Given the description of an element on the screen output the (x, y) to click on. 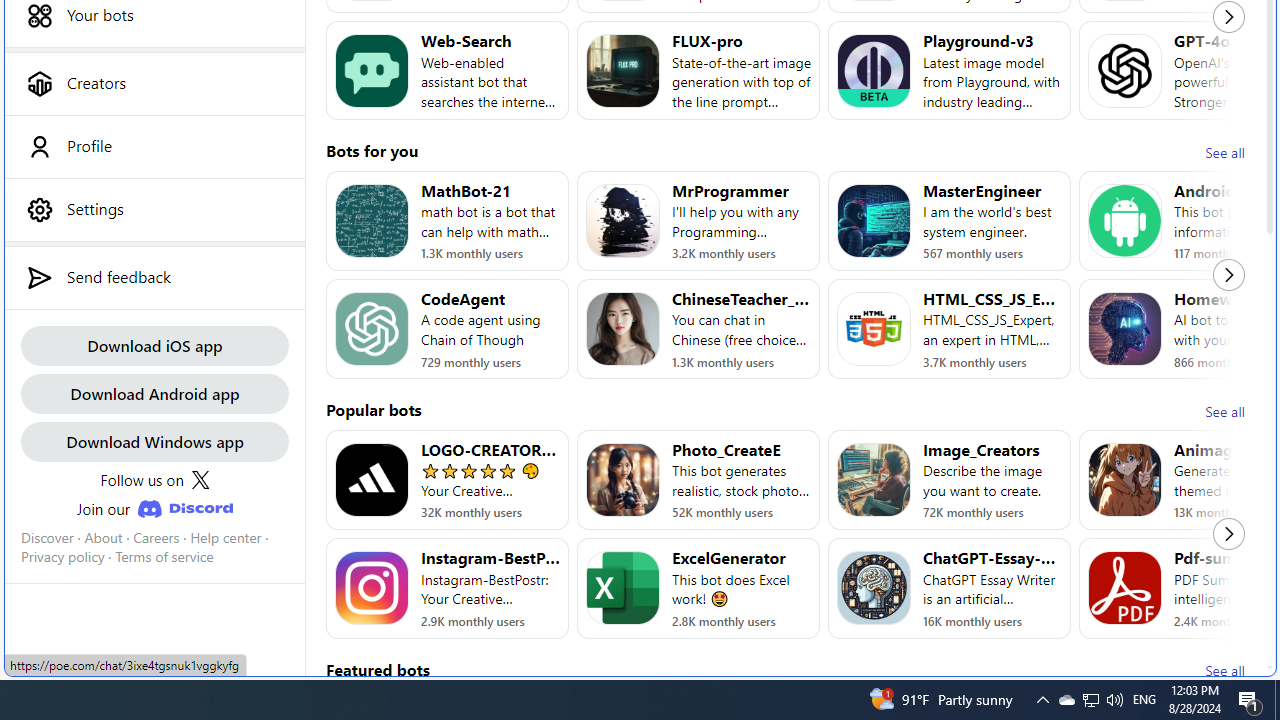
Bot image for LOGO-CREATOR-AI (371, 480)
Bot image for AnimagineXL (1124, 480)
See all (1224, 670)
Bot image for GPT-4o (1124, 70)
Bot image for Instagram-BestPost (371, 588)
Creators (154, 83)
Terms of service (164, 557)
Profile (154, 146)
Bot image for Image_Creators (874, 480)
Bot image for ChatGPT-Essay-Writer (874, 588)
Bot image for Pdf-summarizer-64K (1124, 588)
